Given the description of an element on the screen output the (x, y) to click on. 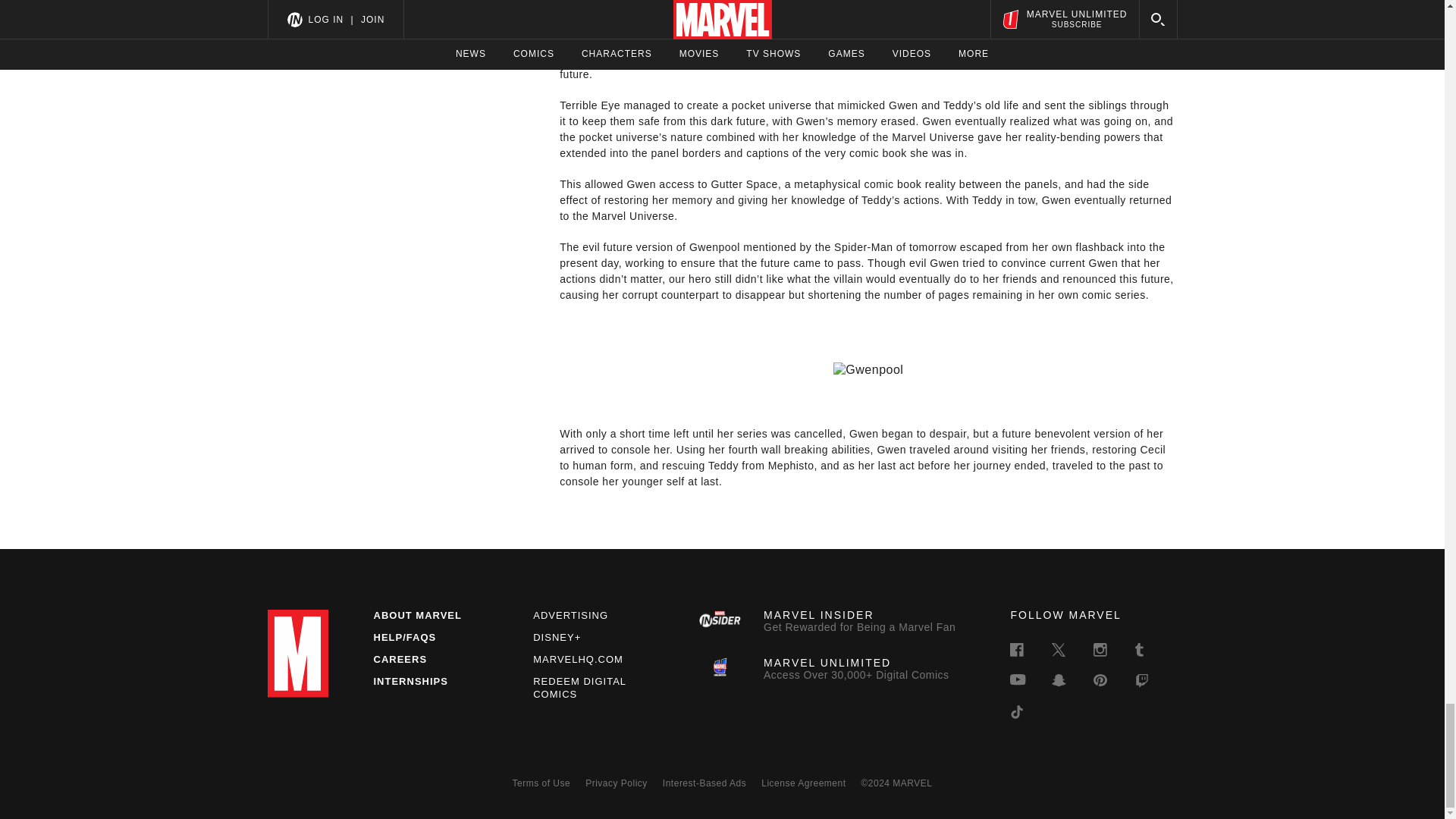
CAREERS (399, 659)
MARVELHQ.COM (828, 621)
INTERNSHIPS (577, 659)
REDEEM DIGITAL COMICS (409, 681)
ABOUT MARVEL (579, 687)
ADVERTISING (416, 614)
